Given the description of an element on the screen output the (x, y) to click on. 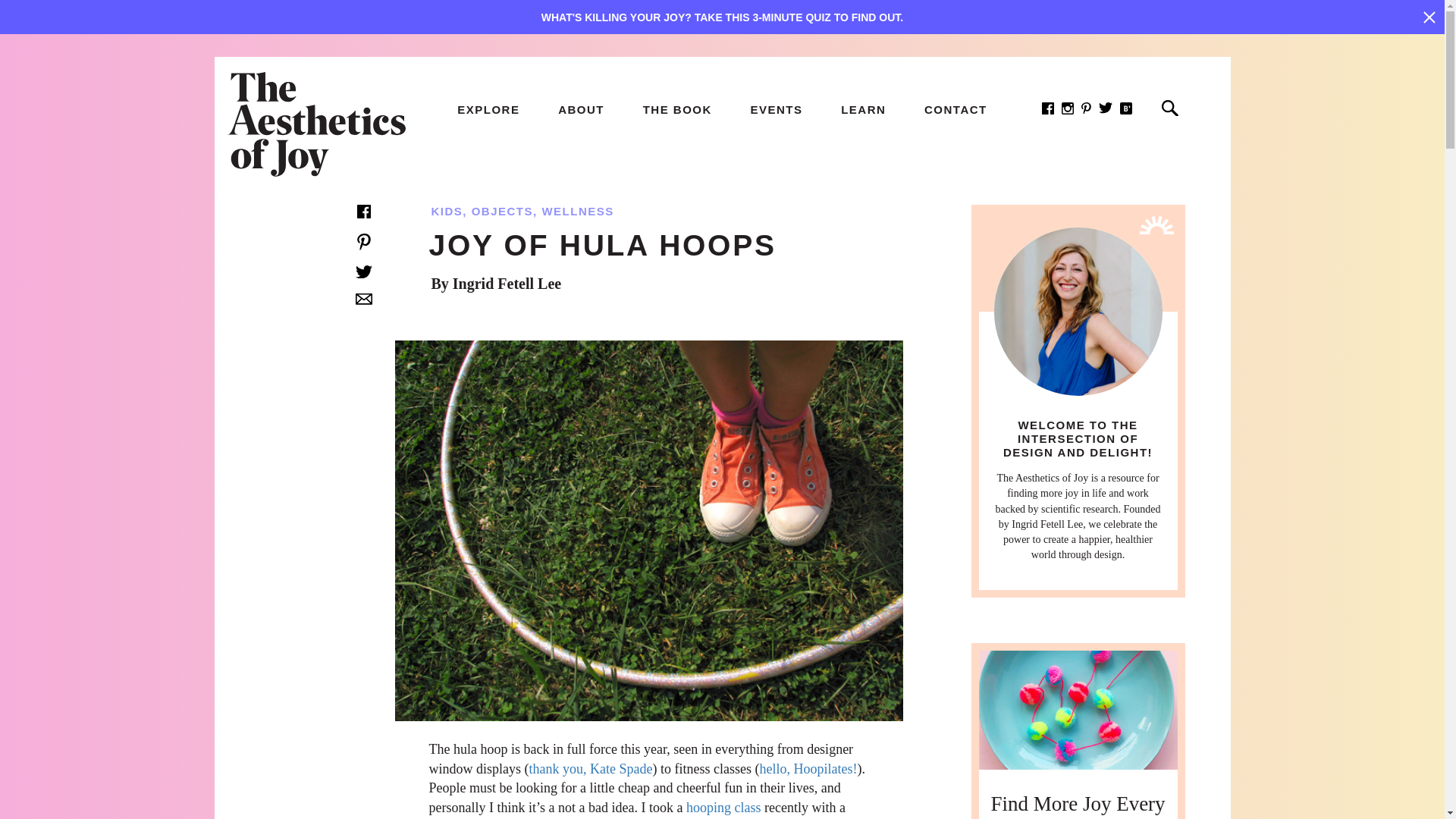
CONTACT (955, 109)
LEARN (863, 109)
ABOUT (580, 109)
EVENTS (775, 109)
THE BOOK (677, 109)
EXPLORE (488, 109)
